Given the description of an element on the screen output the (x, y) to click on. 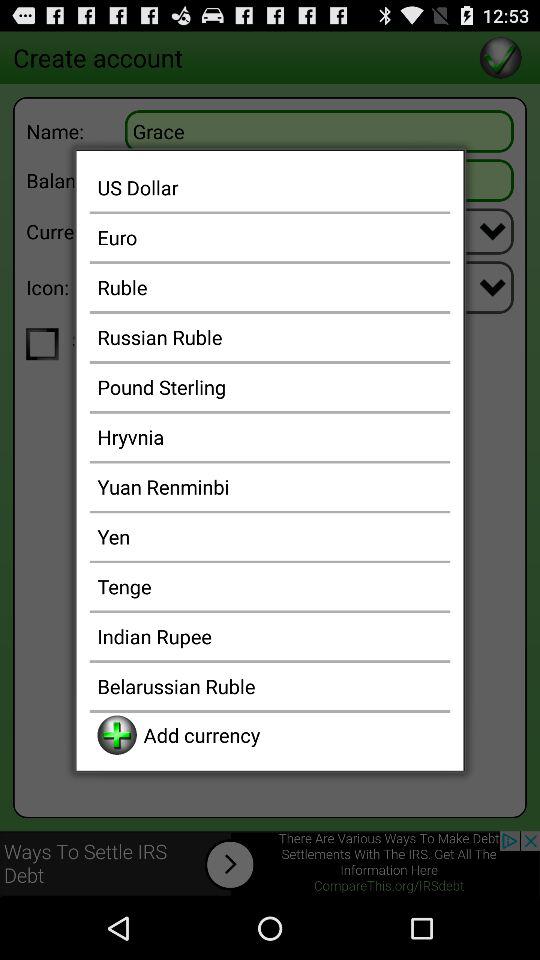
tap item above indian rupee (269, 586)
